Given the description of an element on the screen output the (x, y) to click on. 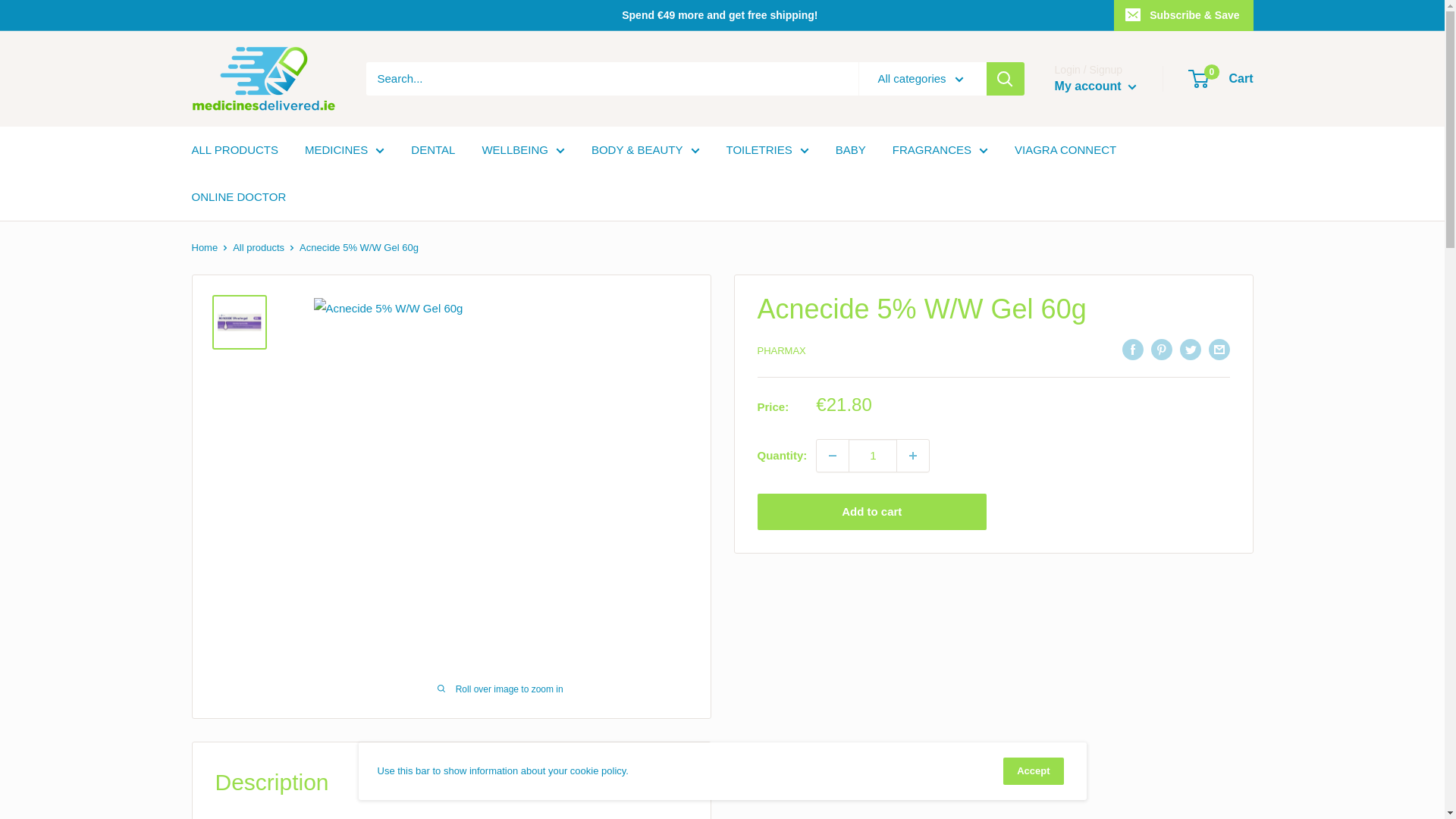
Increase quantity by 1 (912, 455)
Decrease quantity by 1 (832, 455)
1 (872, 455)
